Given the description of an element on the screen output the (x, y) to click on. 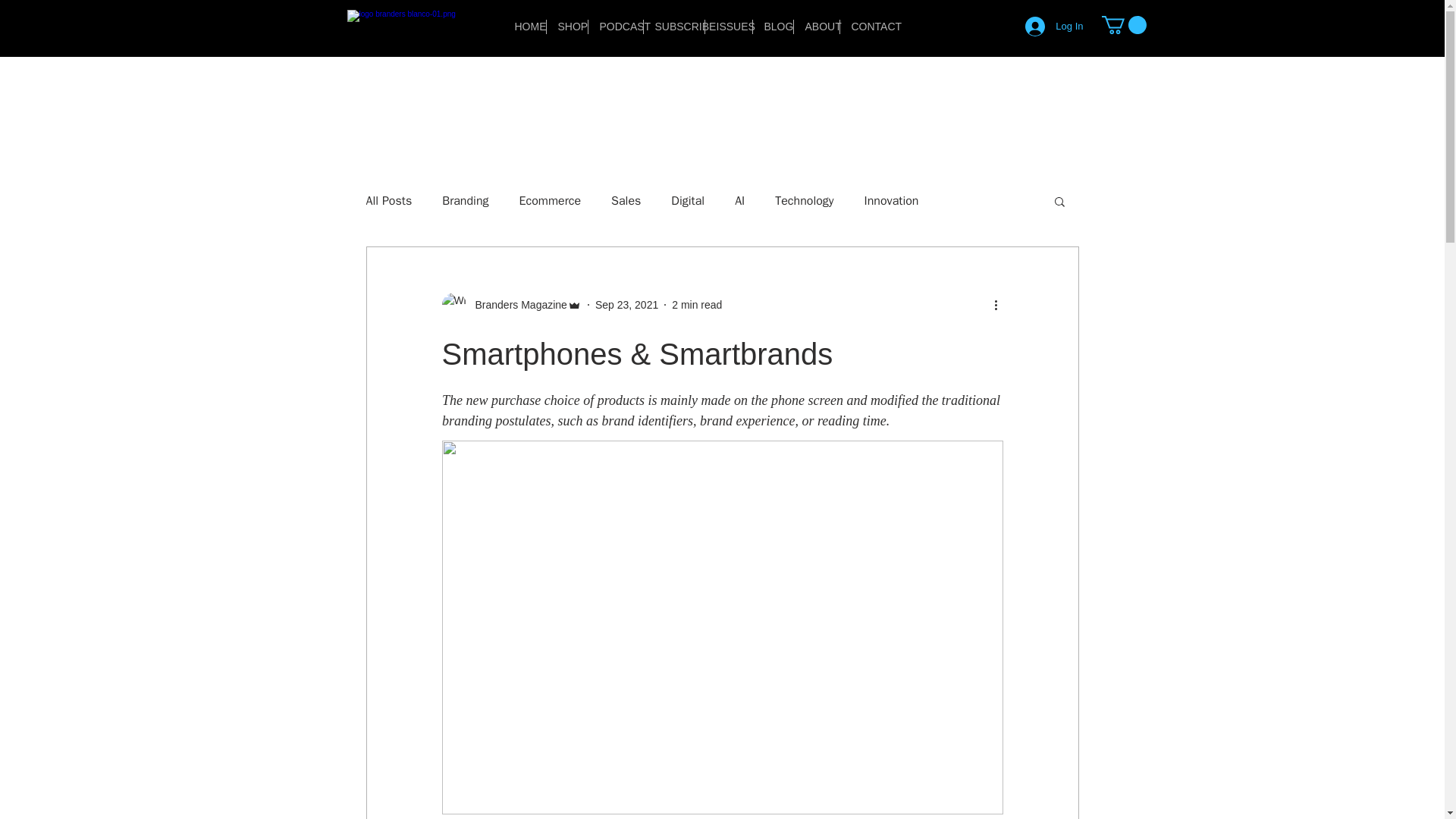
CONTACT (867, 26)
Innovation (891, 201)
Log In (1053, 26)
BLOG (772, 26)
2 min read (696, 304)
Sep 23, 2021 (626, 304)
Branding (464, 201)
All Posts (388, 201)
Branders Magazine (515, 304)
PODCAST (615, 26)
ISSUES (728, 26)
SUBSCRIBE (673, 26)
Digital (687, 201)
ABOUT (815, 26)
Technology (803, 201)
